Given the description of an element on the screen output the (x, y) to click on. 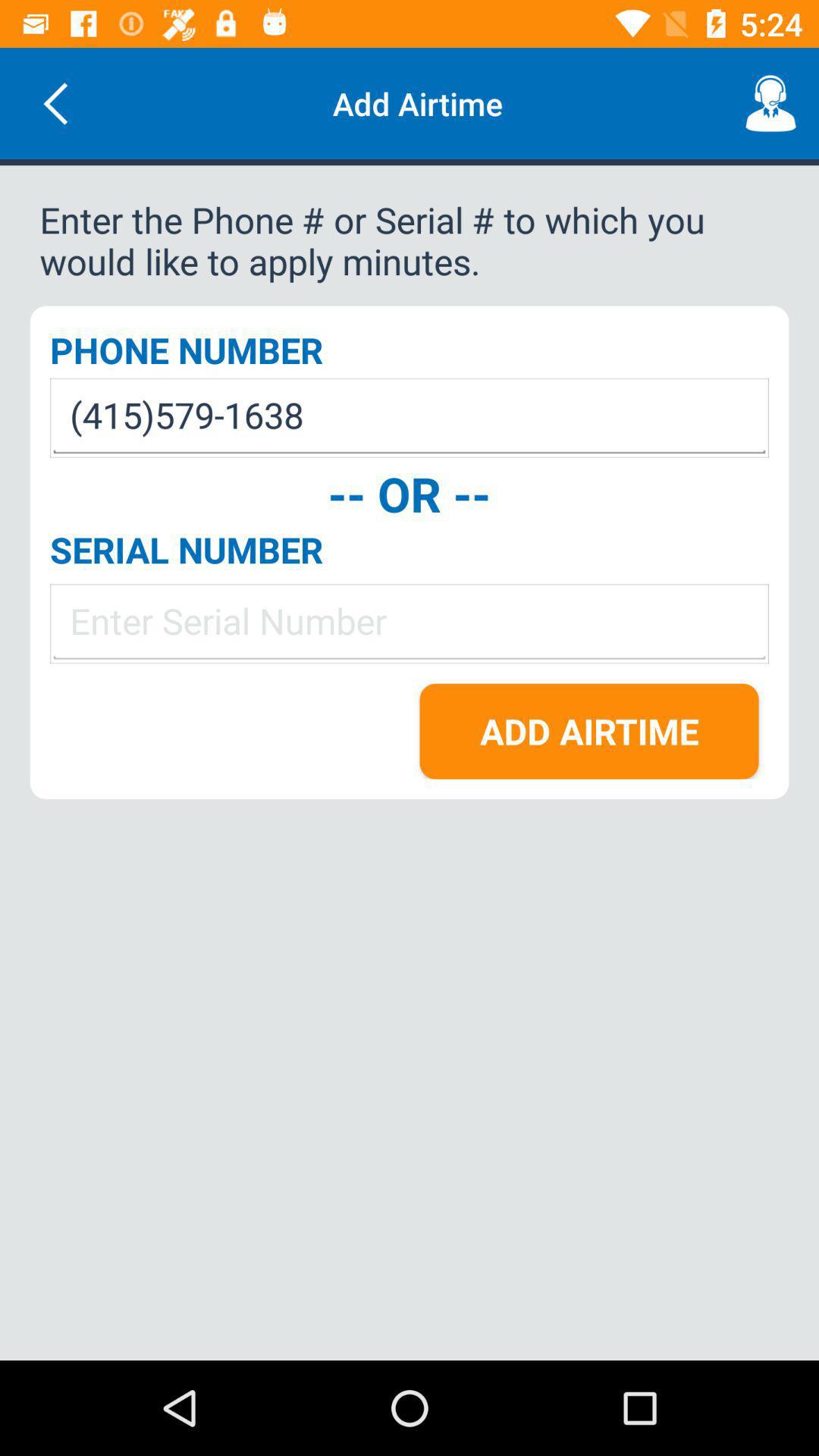
launch the icon next to the add airtime (771, 103)
